Given the description of an element on the screen output the (x, y) to click on. 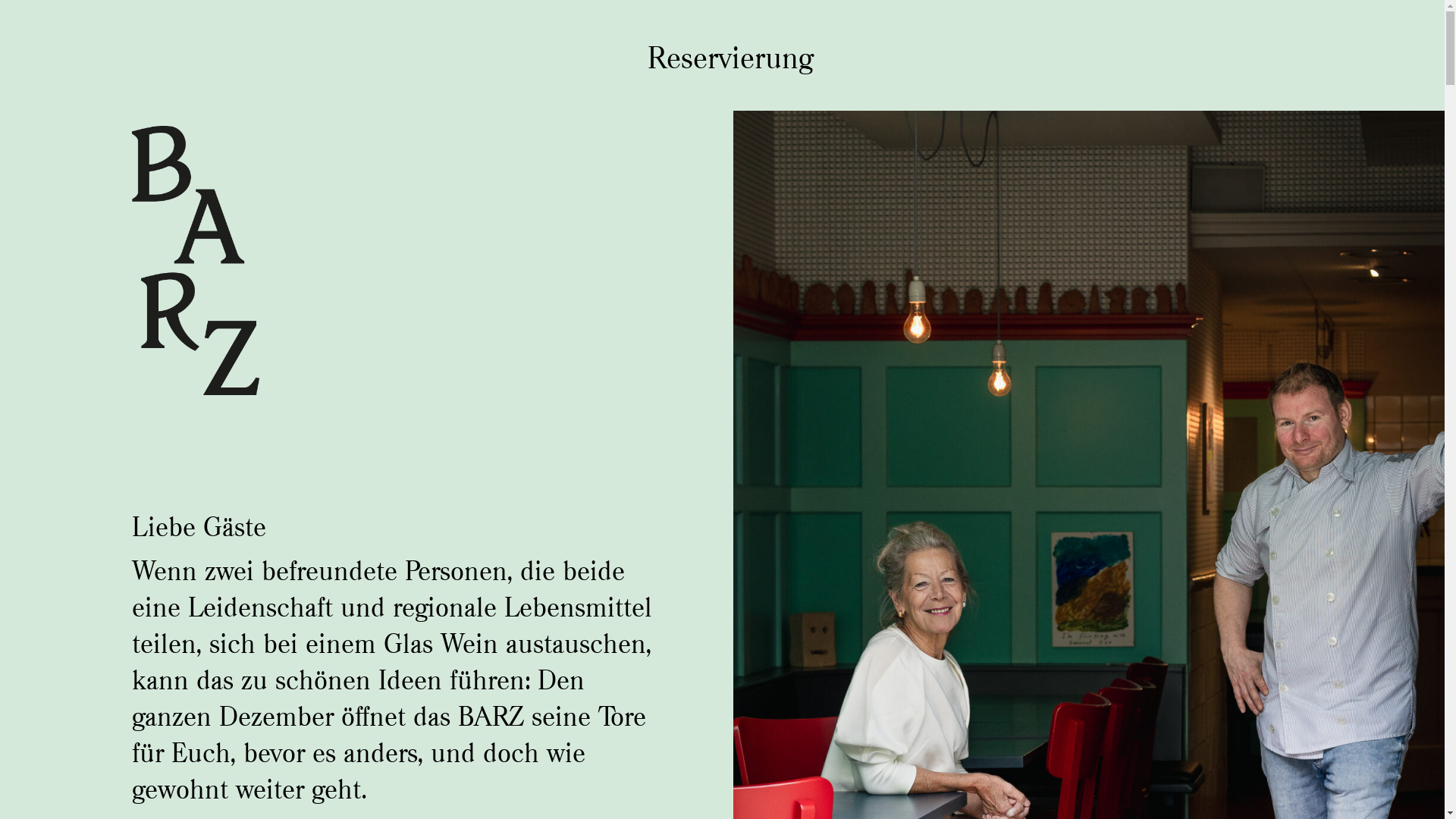
 Reservierung Element type: text (722, 57)
